Given the description of an element on the screen output the (x, y) to click on. 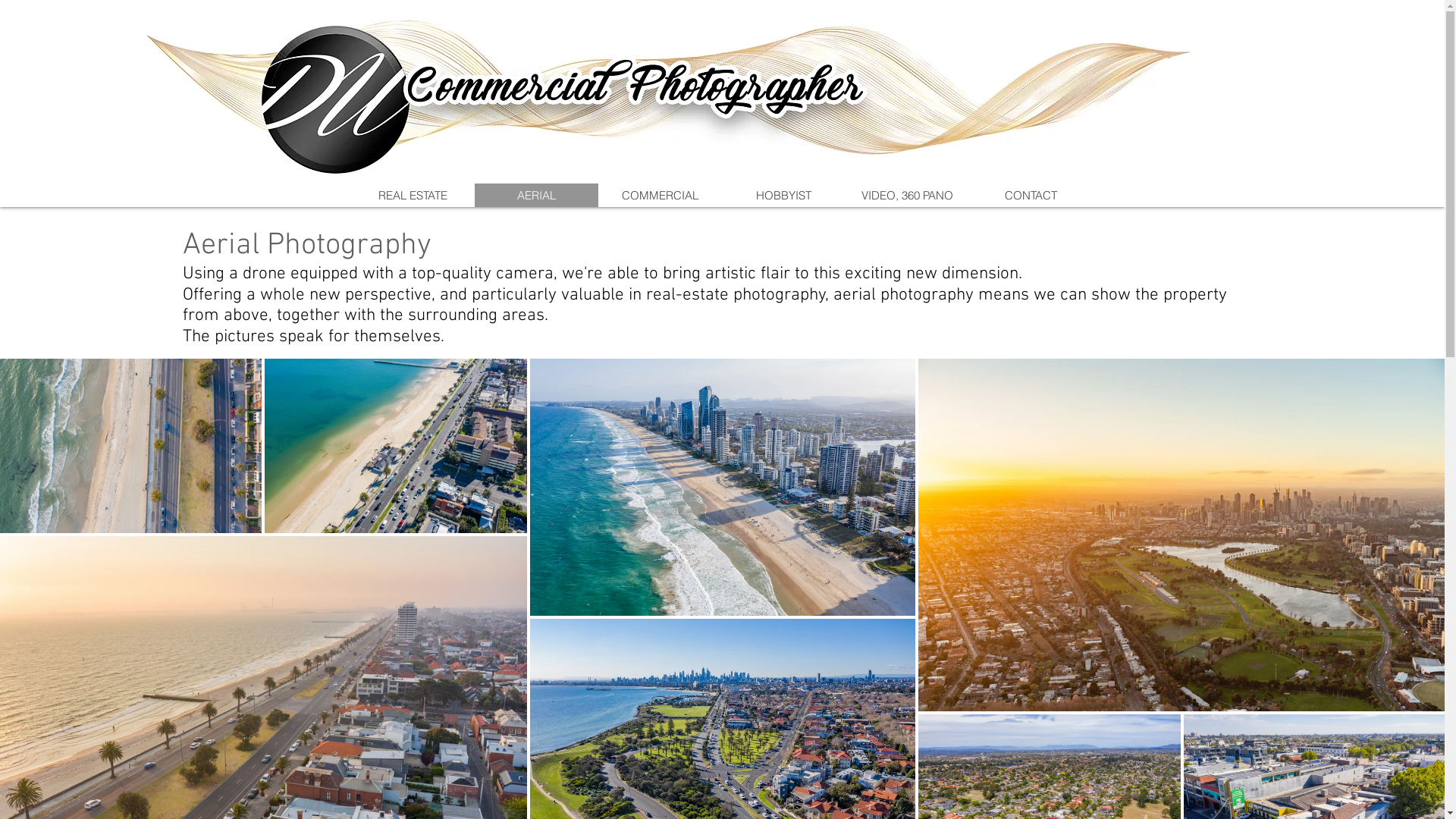
AERIAL Element type: text (536, 195)
REAL ESTATE Element type: text (411, 195)
COMMERCIAL Element type: text (659, 195)
VIDEO, 360 PANO Element type: text (906, 195)
HOBBYIST Element type: text (783, 195)
CONTACT Element type: text (1030, 195)
